Given the description of an element on the screen output the (x, y) to click on. 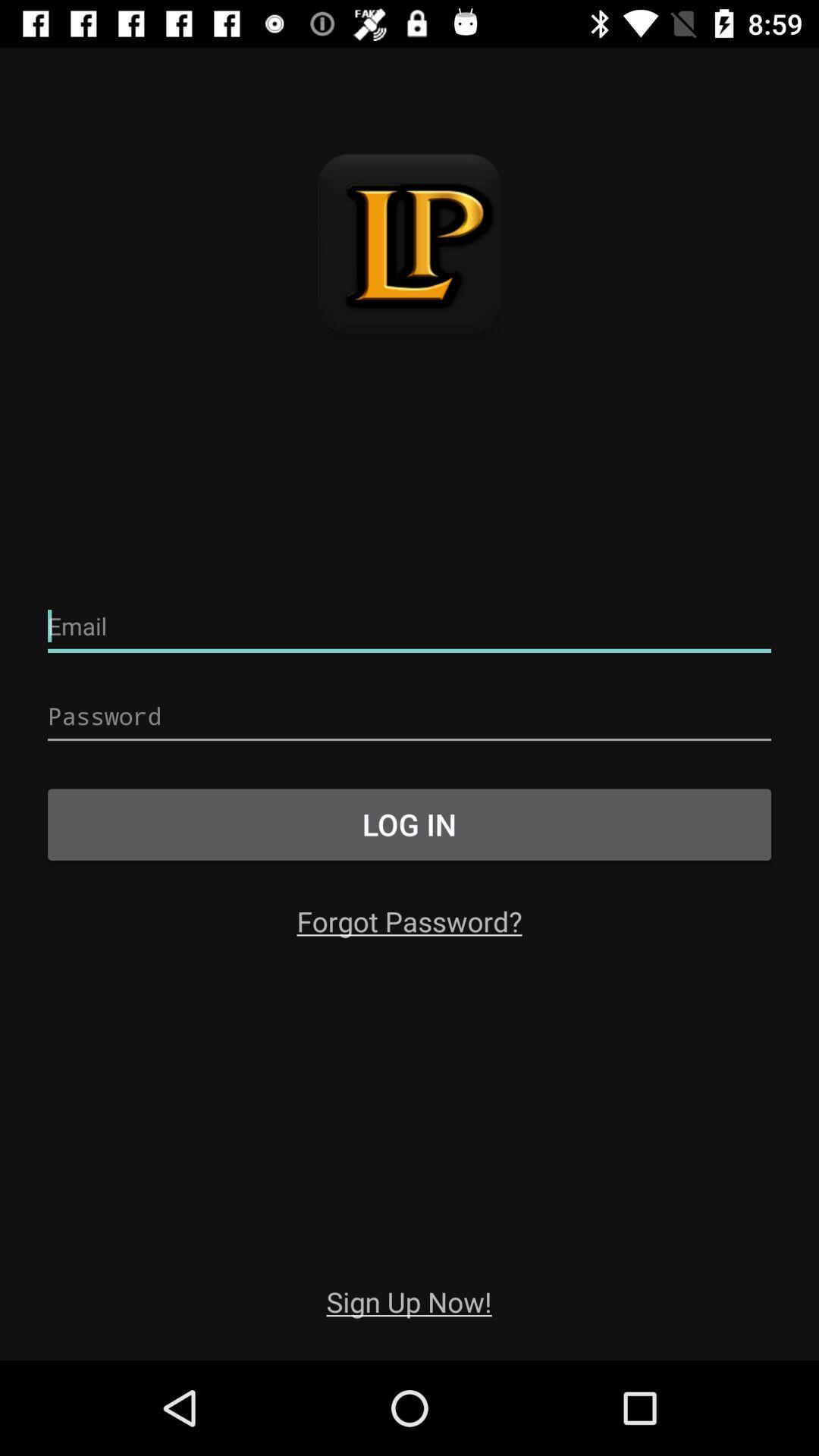
enter password (409, 716)
